Given the description of an element on the screen output the (x, y) to click on. 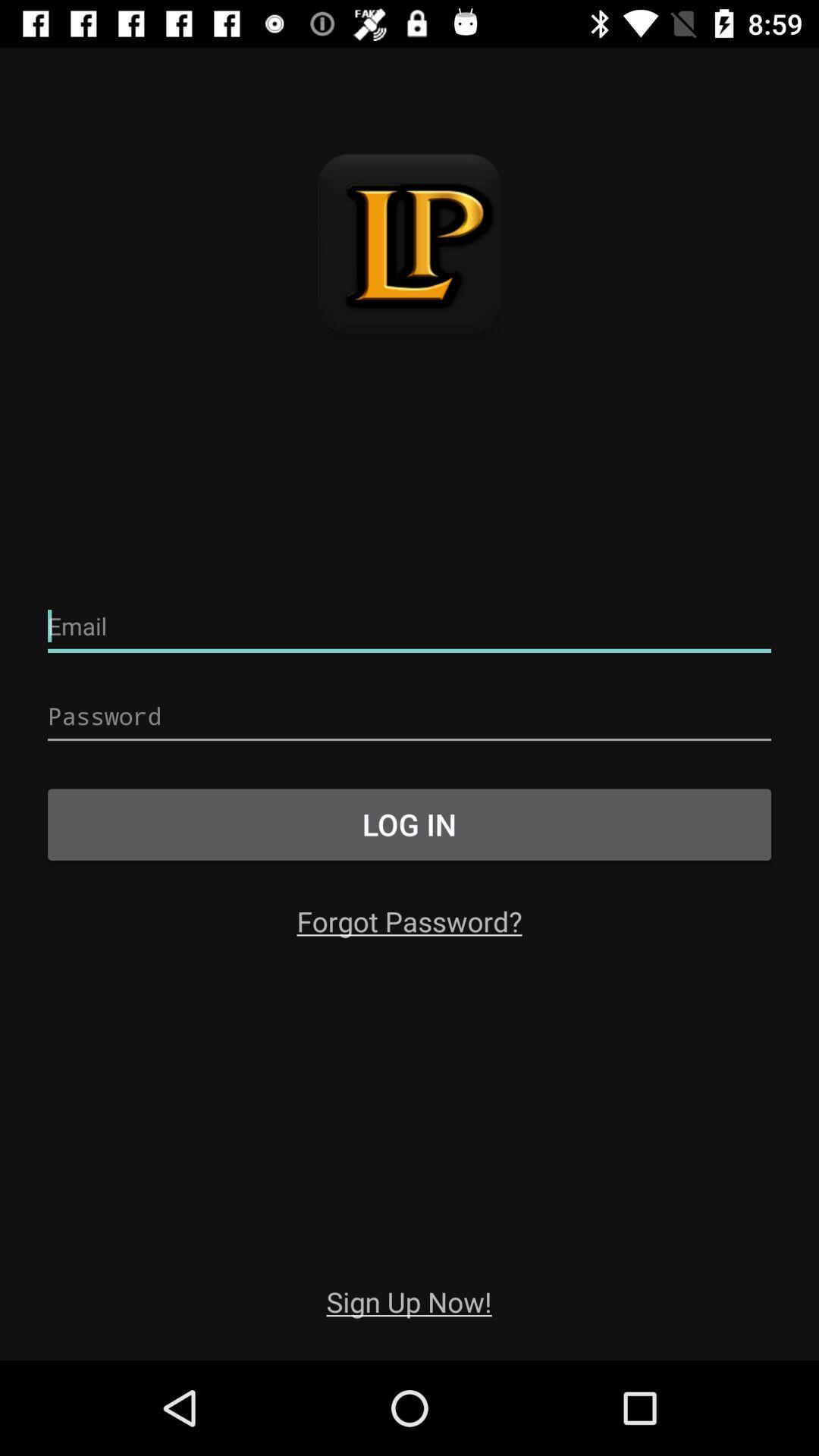
enter password (409, 716)
